Given the description of an element on the screen output the (x, y) to click on. 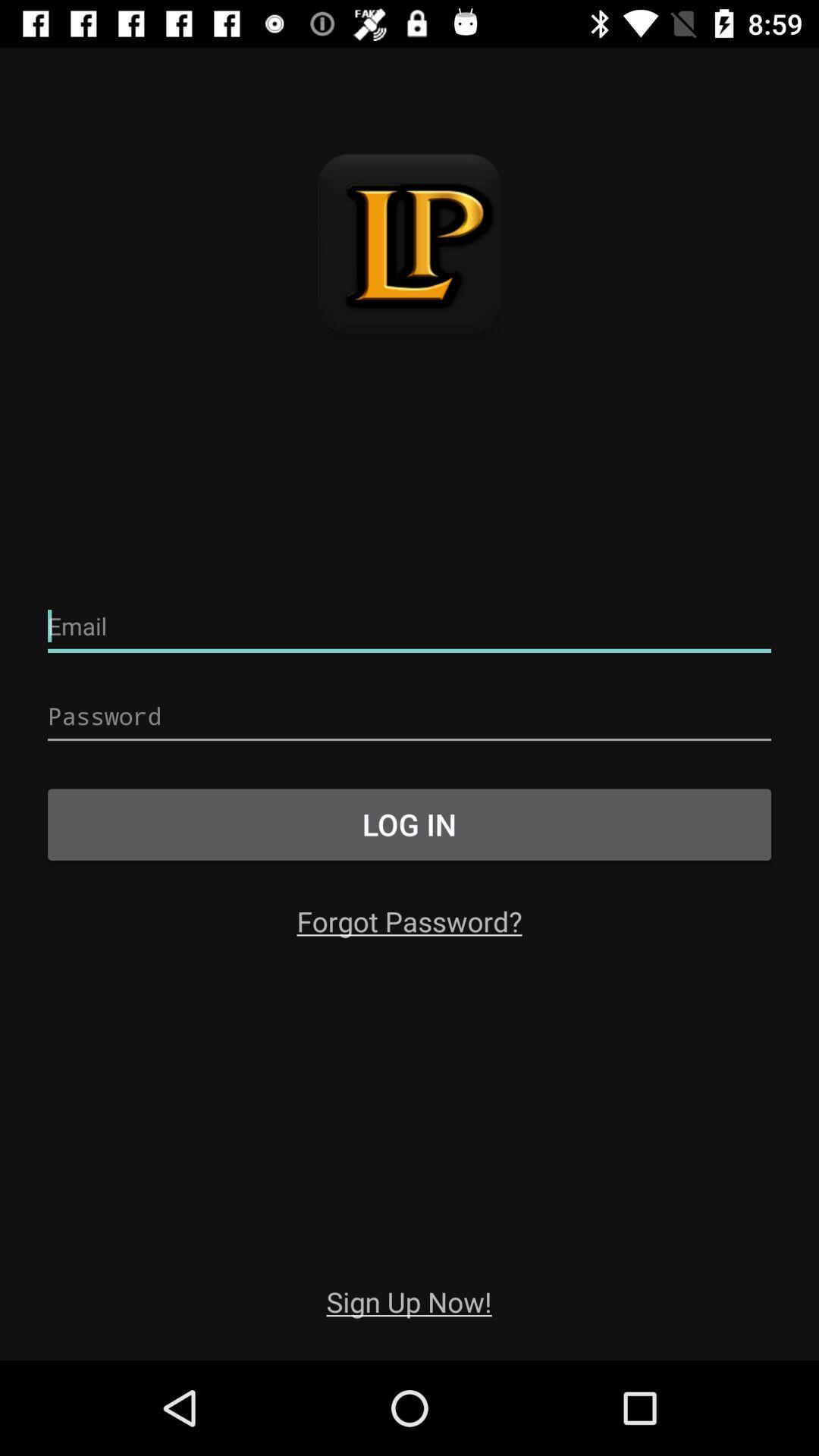
enter password (409, 716)
